Given the description of an element on the screen output the (x, y) to click on. 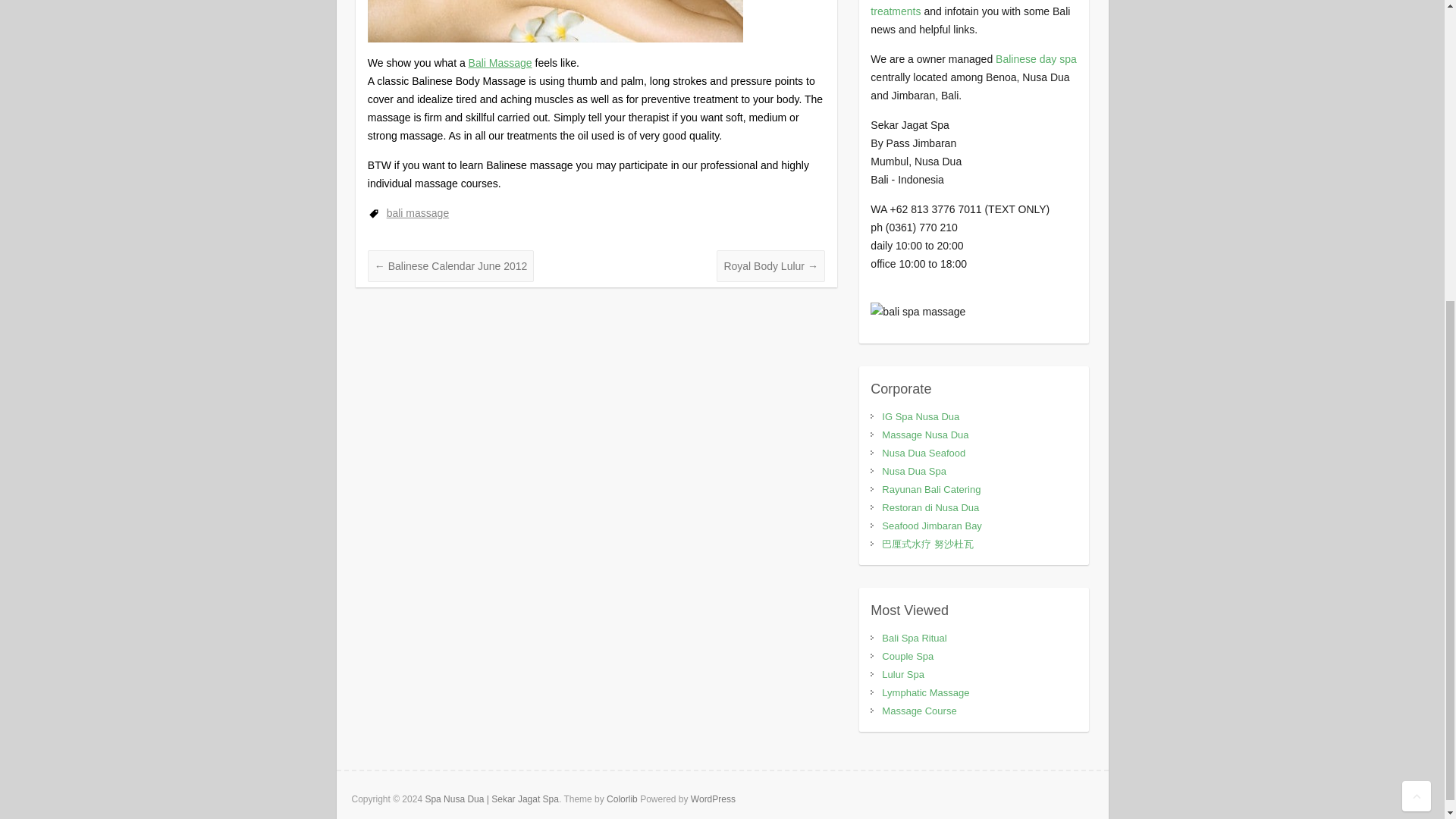
Rayunan Bali Catering (930, 489)
Catering for Nusa Dua Jimbaran Bali (930, 489)
bali massage (418, 213)
Seafood Restaurant Jimbaran Bay Beach (931, 525)
Nusa Dua Spa (914, 471)
Bali Spa Ritual (914, 637)
Nusa Dua Seafood (923, 452)
Nusa Dua Seafood at Jaansan Bali Restaurant (923, 452)
Seafood Jimbaran Bay (931, 525)
Bali Massage in Nusa Dua (925, 434)
IG Spa Nusa Dua (920, 416)
Massage Nusa Dua (925, 434)
Sekar Jagat Spa Nusa Dua on Instagram (920, 416)
Restoran di Nusa Dua (930, 507)
Bali Massage (555, 21)
